Given the description of an element on the screen output the (x, y) to click on. 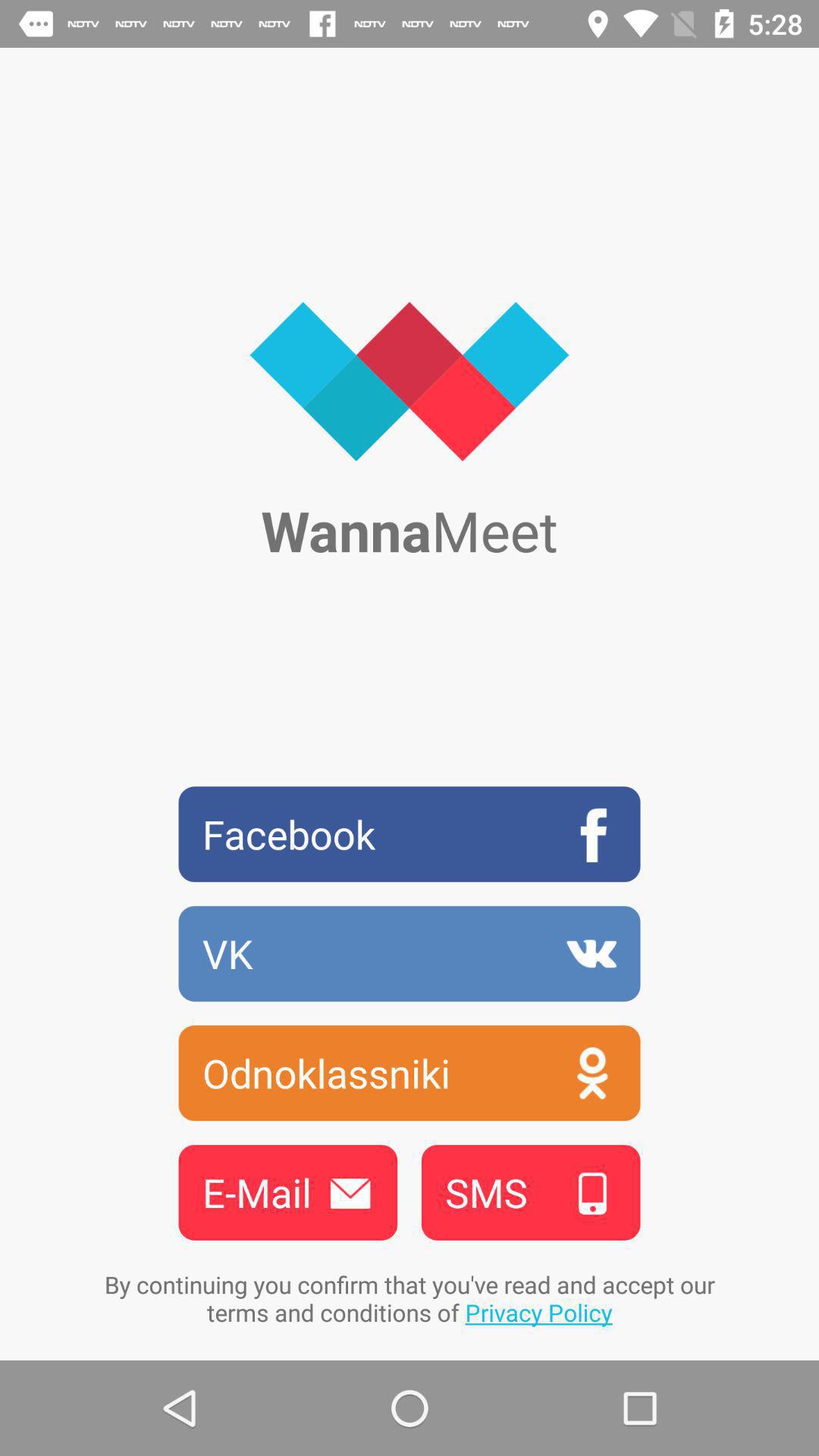
turn off item next to sms icon (287, 1192)
